Given the description of an element on the screen output the (x, y) to click on. 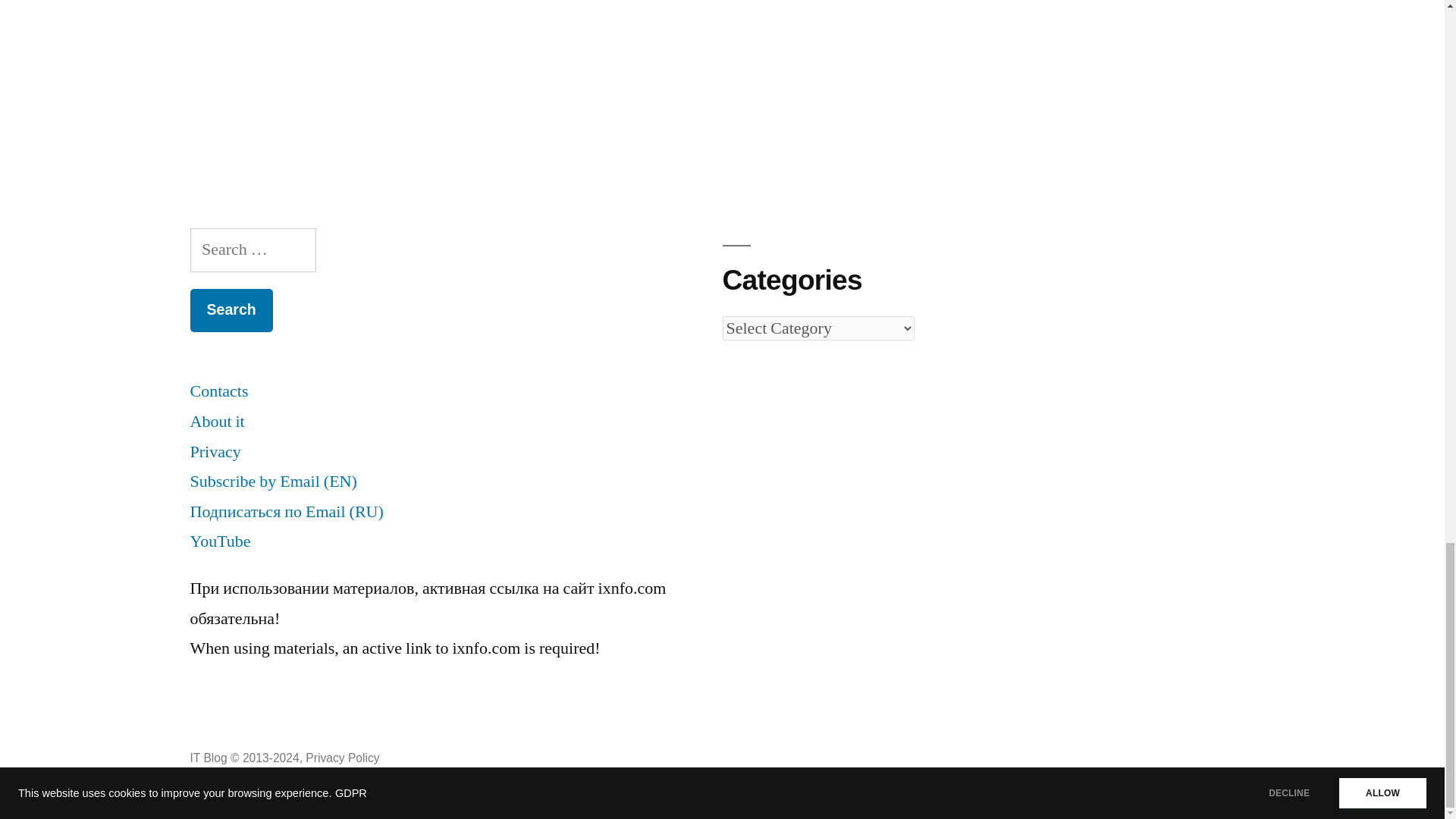
Contacts (218, 391)
About it (216, 421)
Privacy Policy (341, 757)
IT Blog (208, 757)
Privacy (214, 451)
YouTube (219, 541)
Search (230, 310)
Search (230, 310)
Search (230, 310)
